Given the description of an element on the screen output the (x, y) to click on. 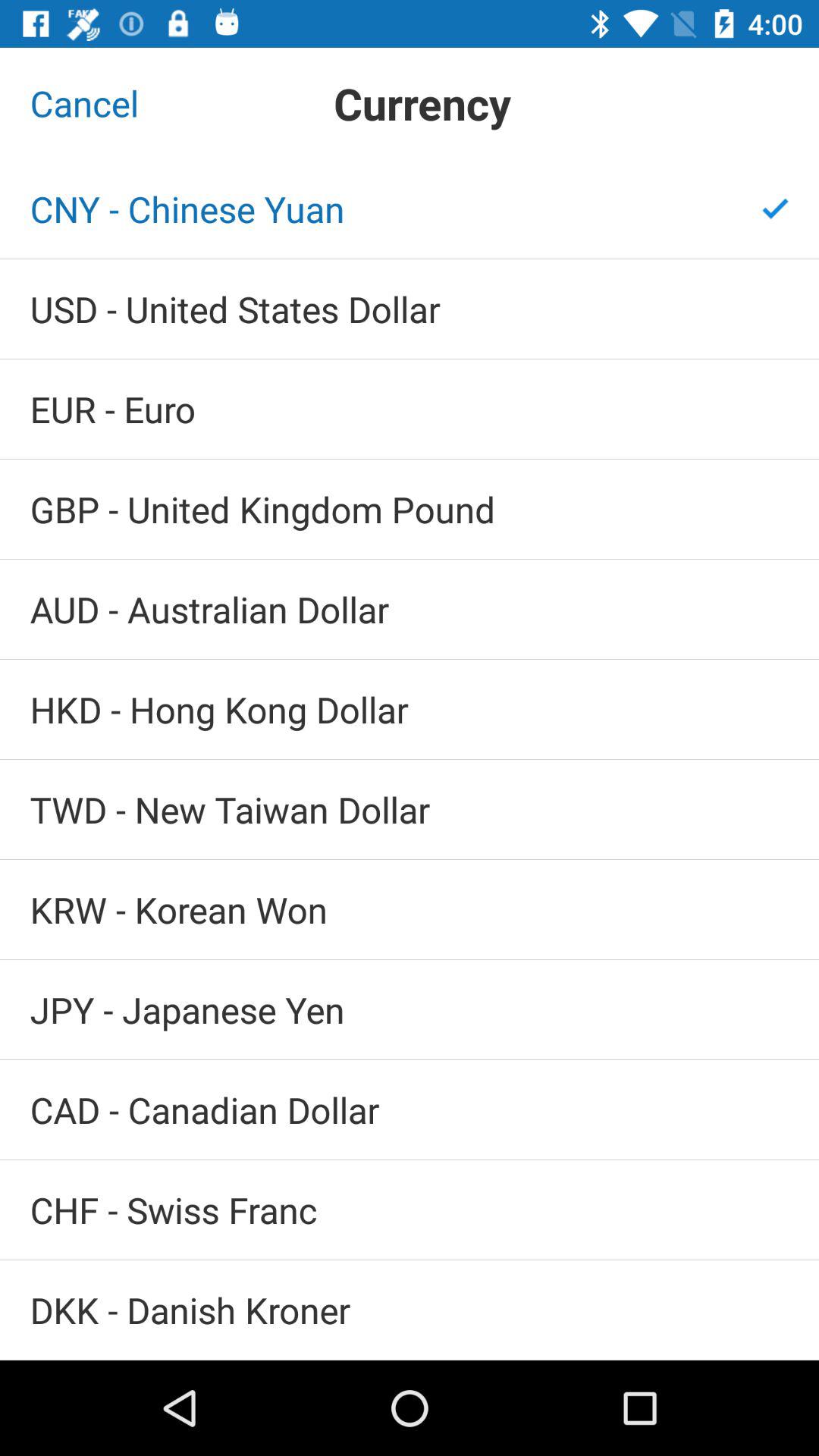
launch the cancel icon (84, 103)
